Given the description of an element on the screen output the (x, y) to click on. 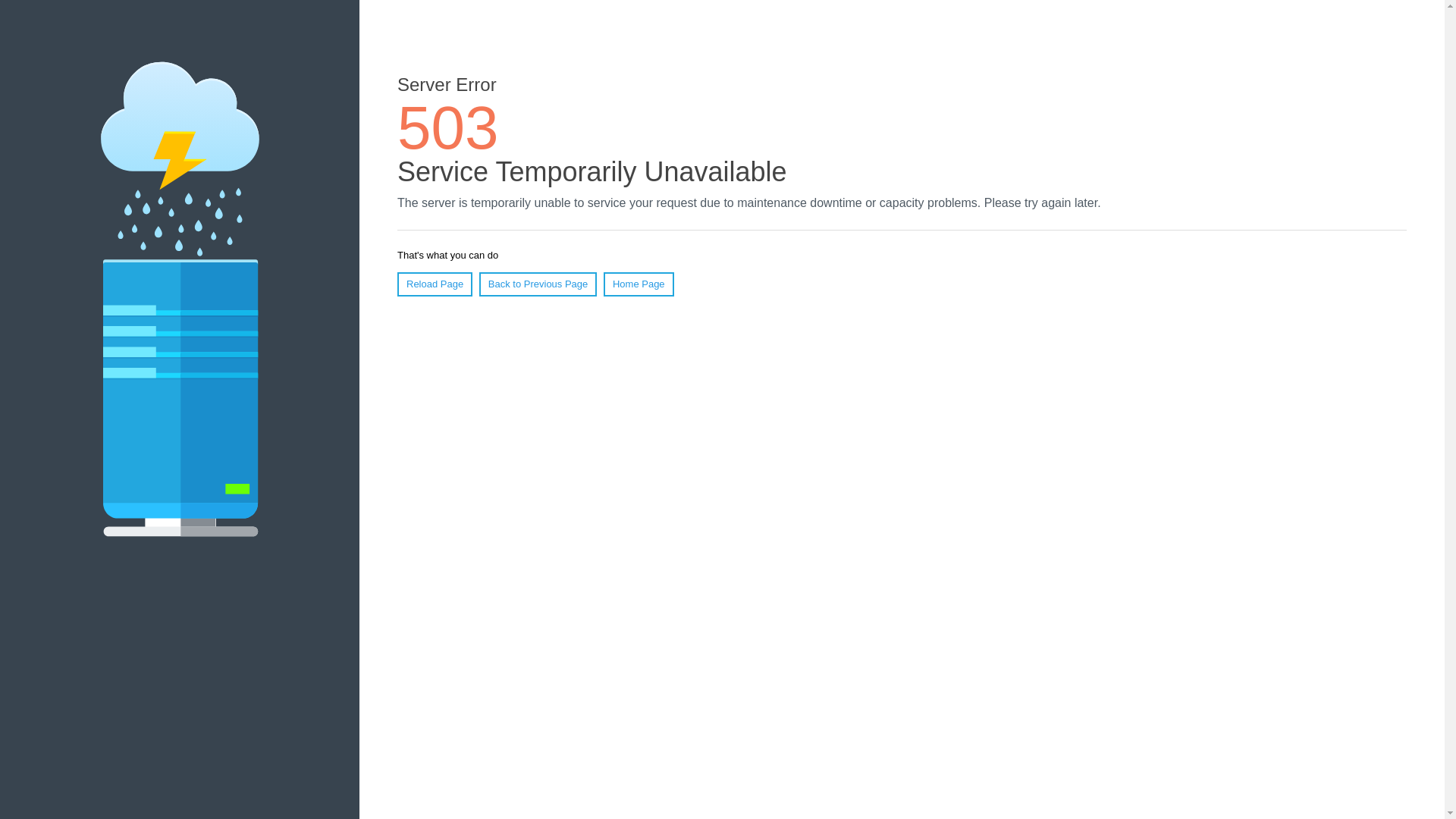
Home Page Element type: text (638, 284)
Back to Previous Page Element type: text (538, 284)
Reload Page Element type: text (434, 284)
